Given the description of an element on the screen output the (x, y) to click on. 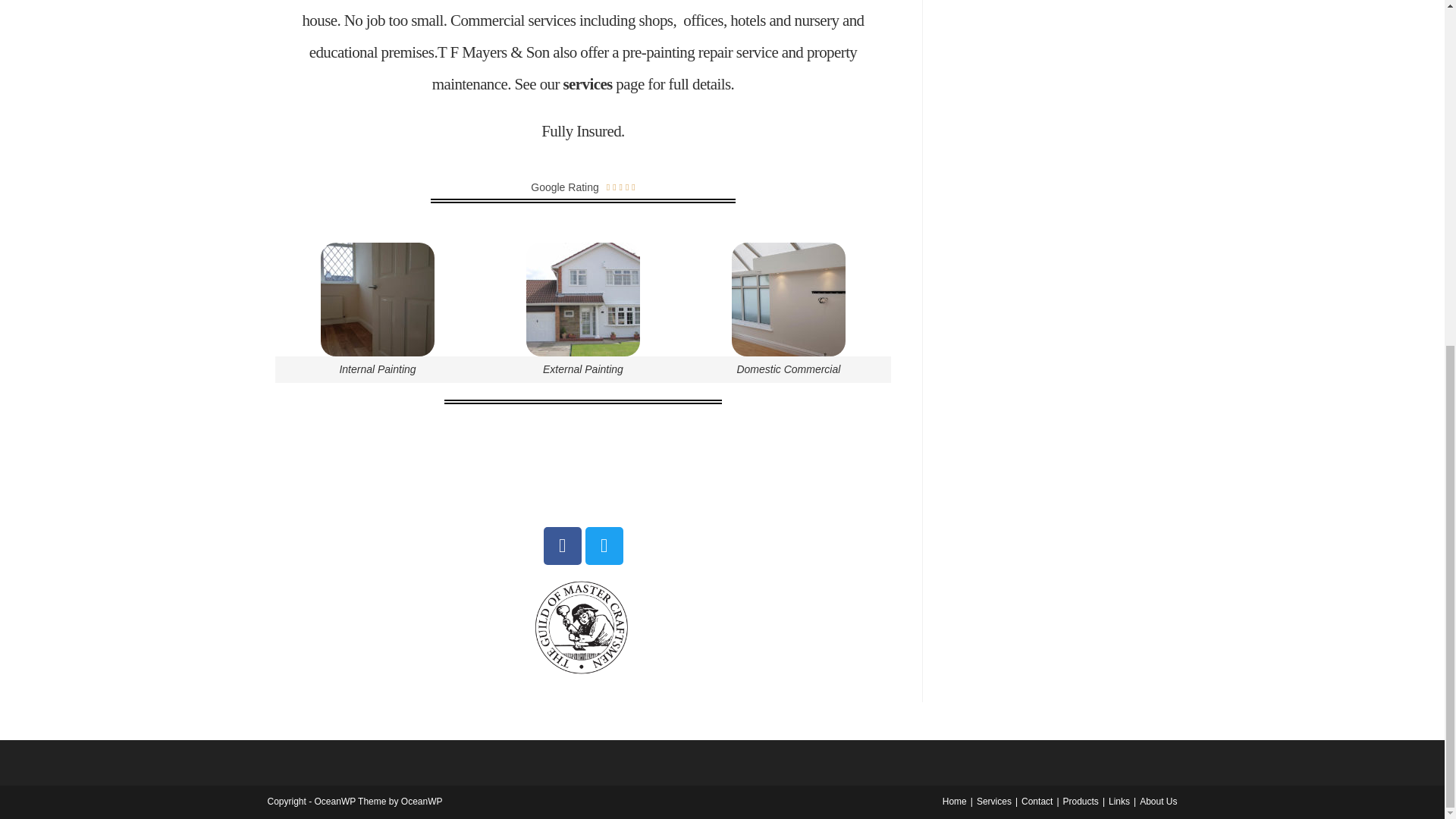
services (587, 84)
About Us (1158, 801)
Links (1118, 801)
Home (954, 801)
Services (993, 801)
Products (1080, 801)
Contact (1037, 801)
